Given the description of an element on the screen output the (x, y) to click on. 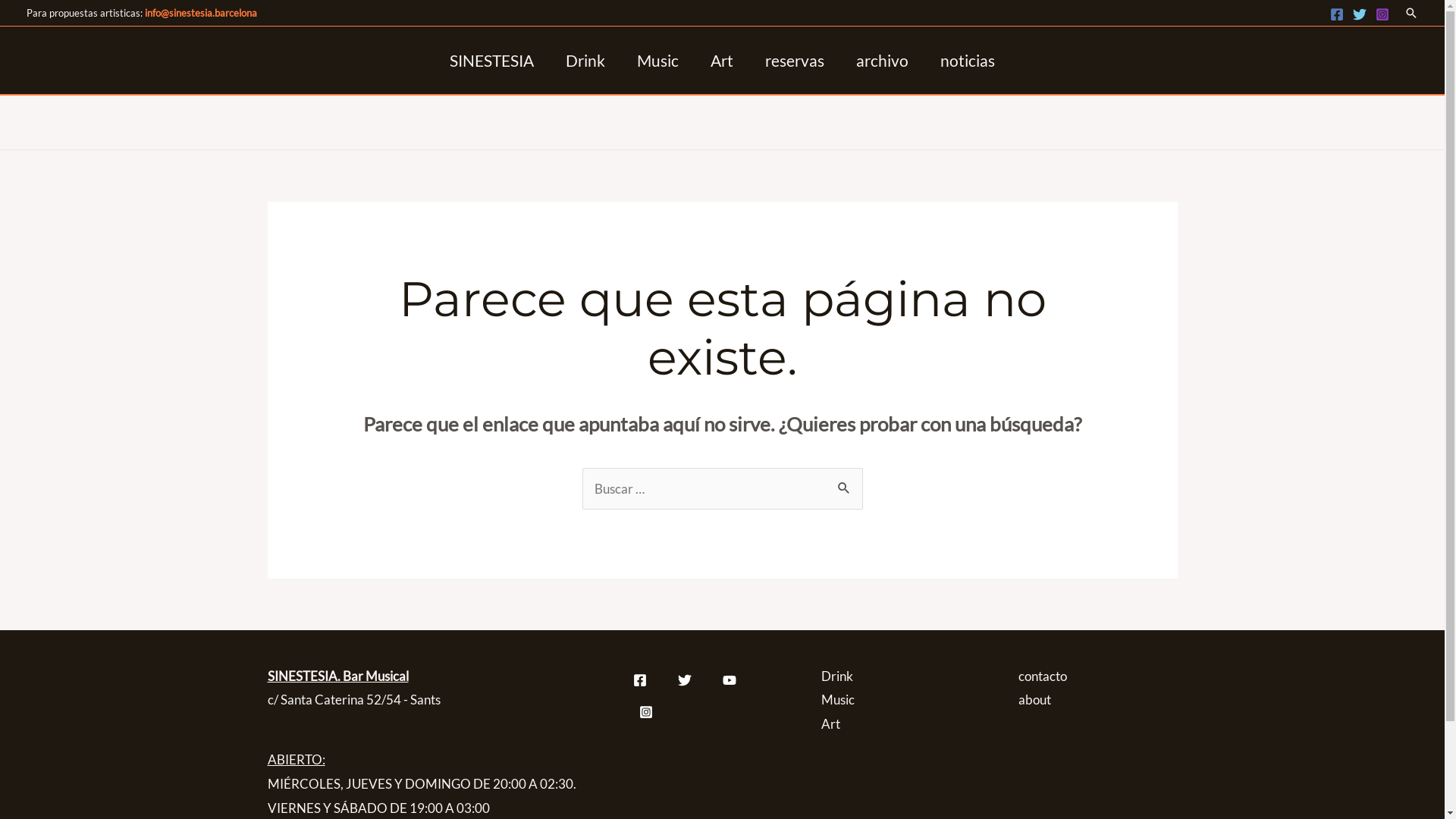
SINESTESIA Element type: text (491, 60)
contacto Element type: text (1041, 676)
about Element type: text (1033, 699)
reservas Element type: text (794, 60)
Art Element type: text (829, 723)
archivo Element type: text (882, 60)
Art Element type: text (721, 60)
Drink Element type: text (836, 676)
noticias Element type: text (967, 60)
Buscar Element type: text (1411, 12)
Music Element type: text (657, 60)
Music Element type: text (836, 699)
Buscar Element type: text (845, 482)
Drink Element type: text (585, 60)
info@sinestesia.barcelona Element type: text (200, 12)
